Given the description of an element on the screen output the (x, y) to click on. 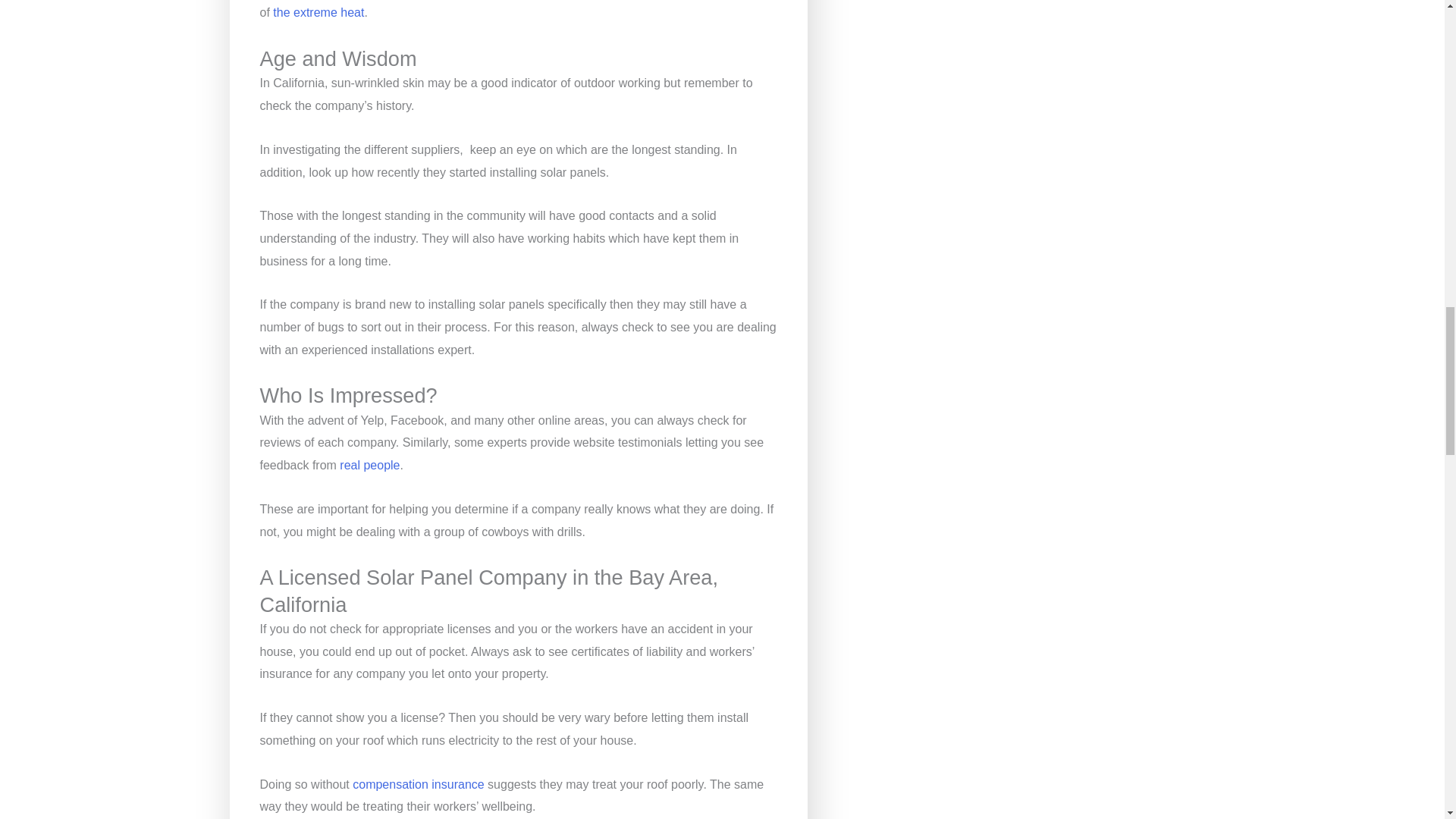
real people (368, 464)
the extreme heat (318, 11)
compensation insurance (417, 784)
